Given the description of an element on the screen output the (x, y) to click on. 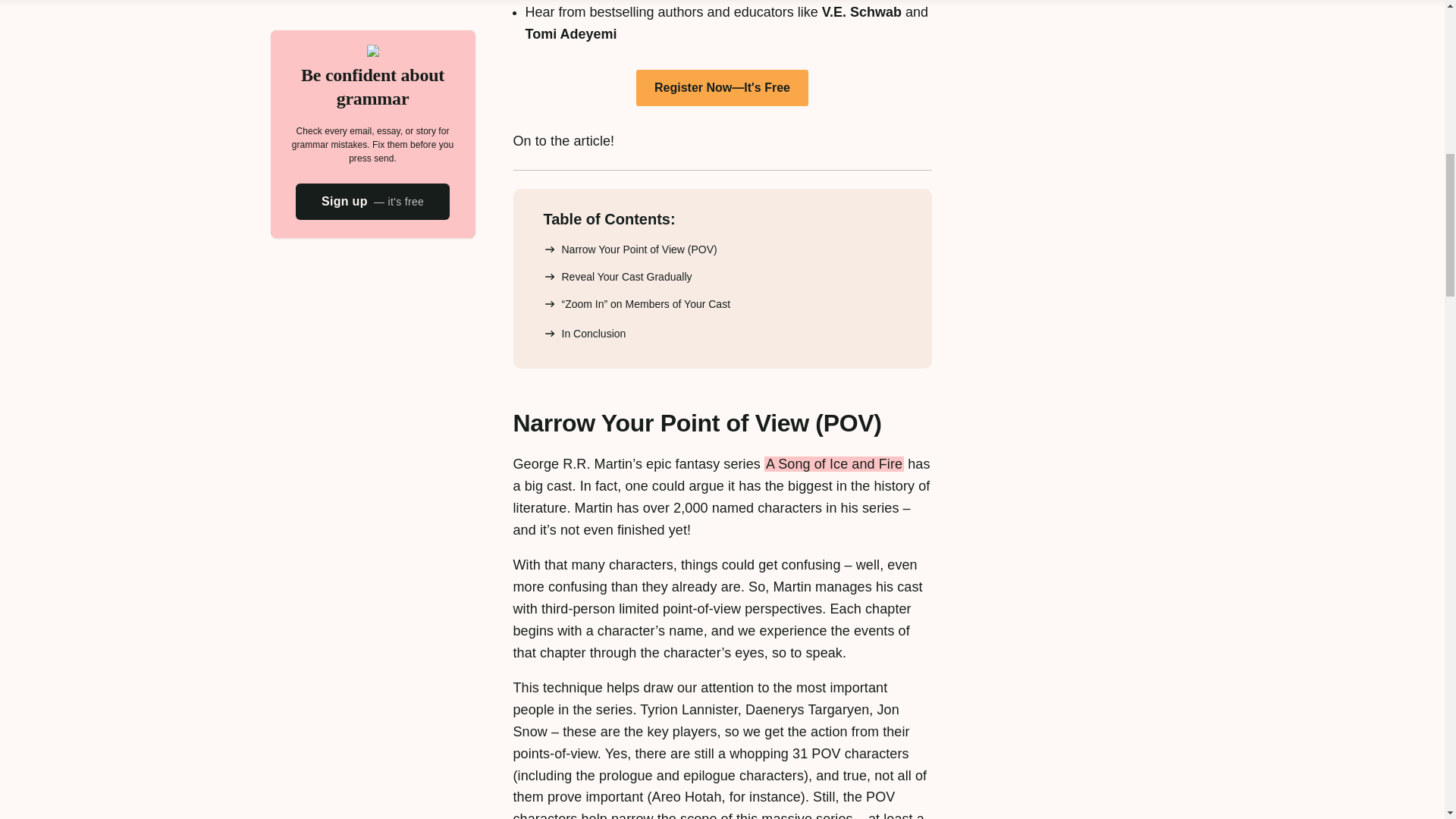
Register for the session now! (722, 87)
